Given the description of an element on the screen output the (x, y) to click on. 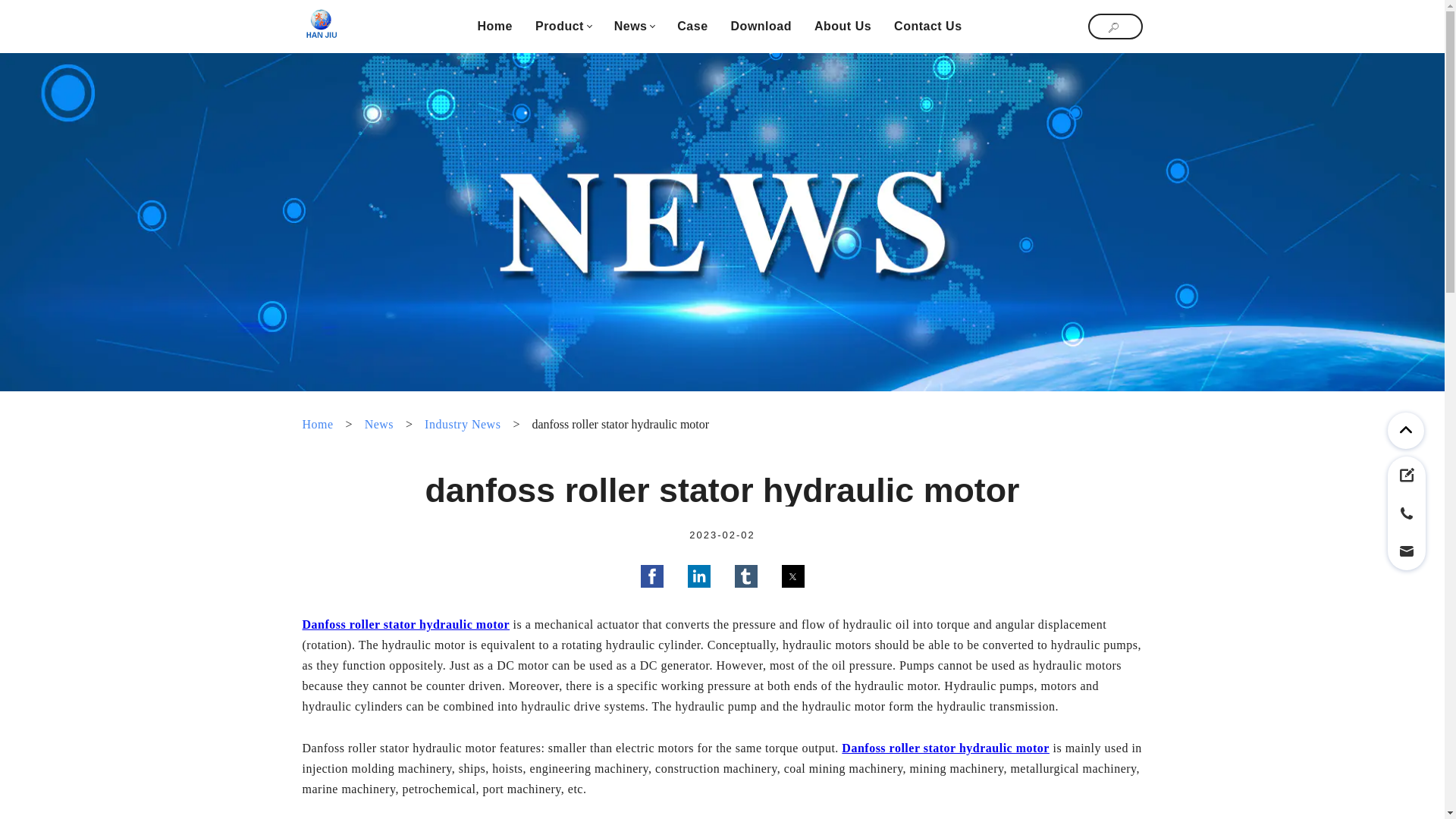
Download (761, 25)
Danfoss roller stator hydraulic motor (405, 624)
Download (761, 25)
News (379, 424)
Contact Us (926, 25)
Home (494, 25)
About Us (841, 25)
Industry News (462, 424)
Product (559, 25)
News (630, 25)
Product (559, 25)
News (630, 25)
Danfoss roller stator hydraulic motor (945, 748)
Home (494, 25)
Home (317, 424)
